Given the description of an element on the screen output the (x, y) to click on. 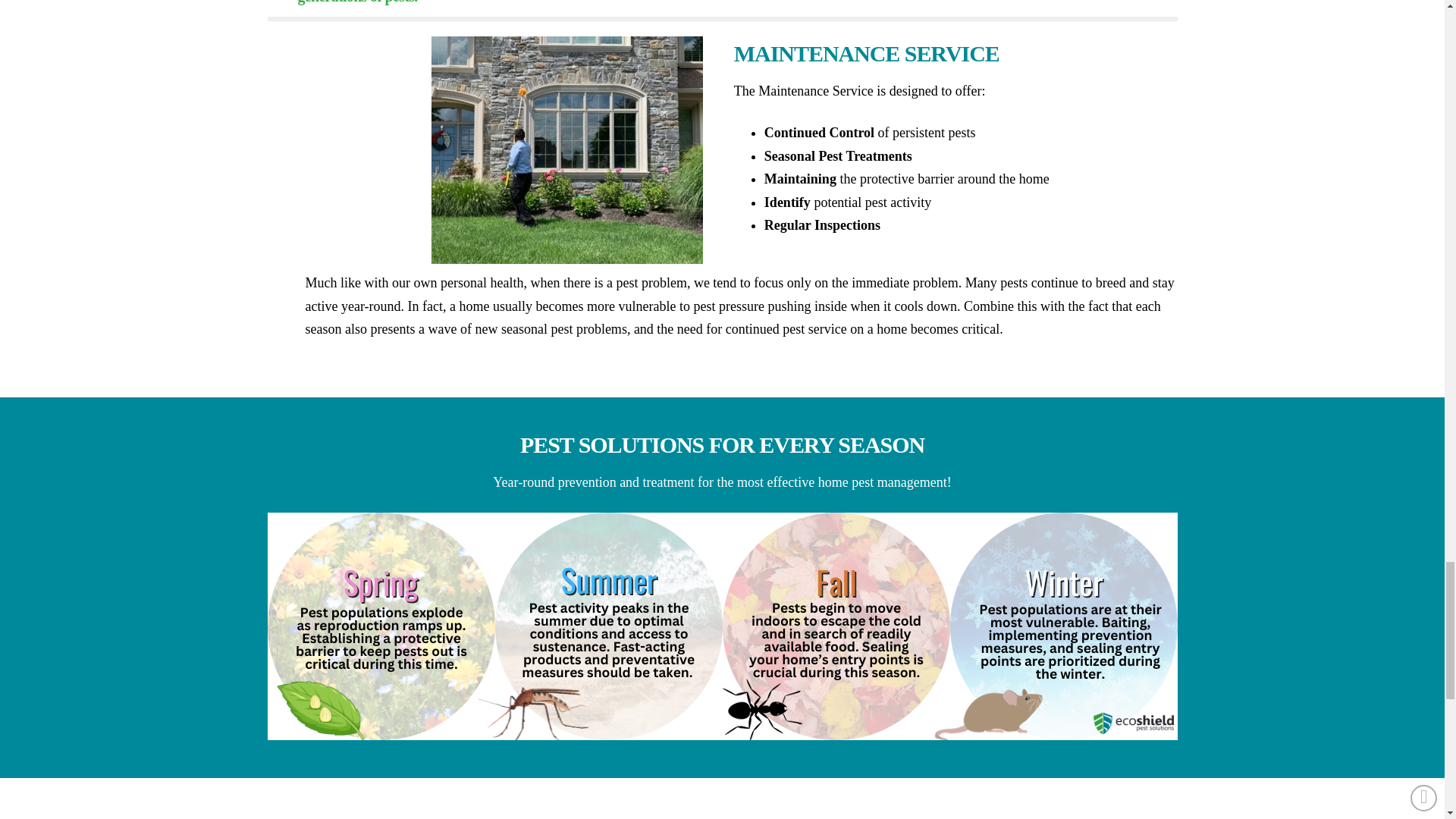
Dewebbing House (566, 149)
